Given the description of an element on the screen output the (x, y) to click on. 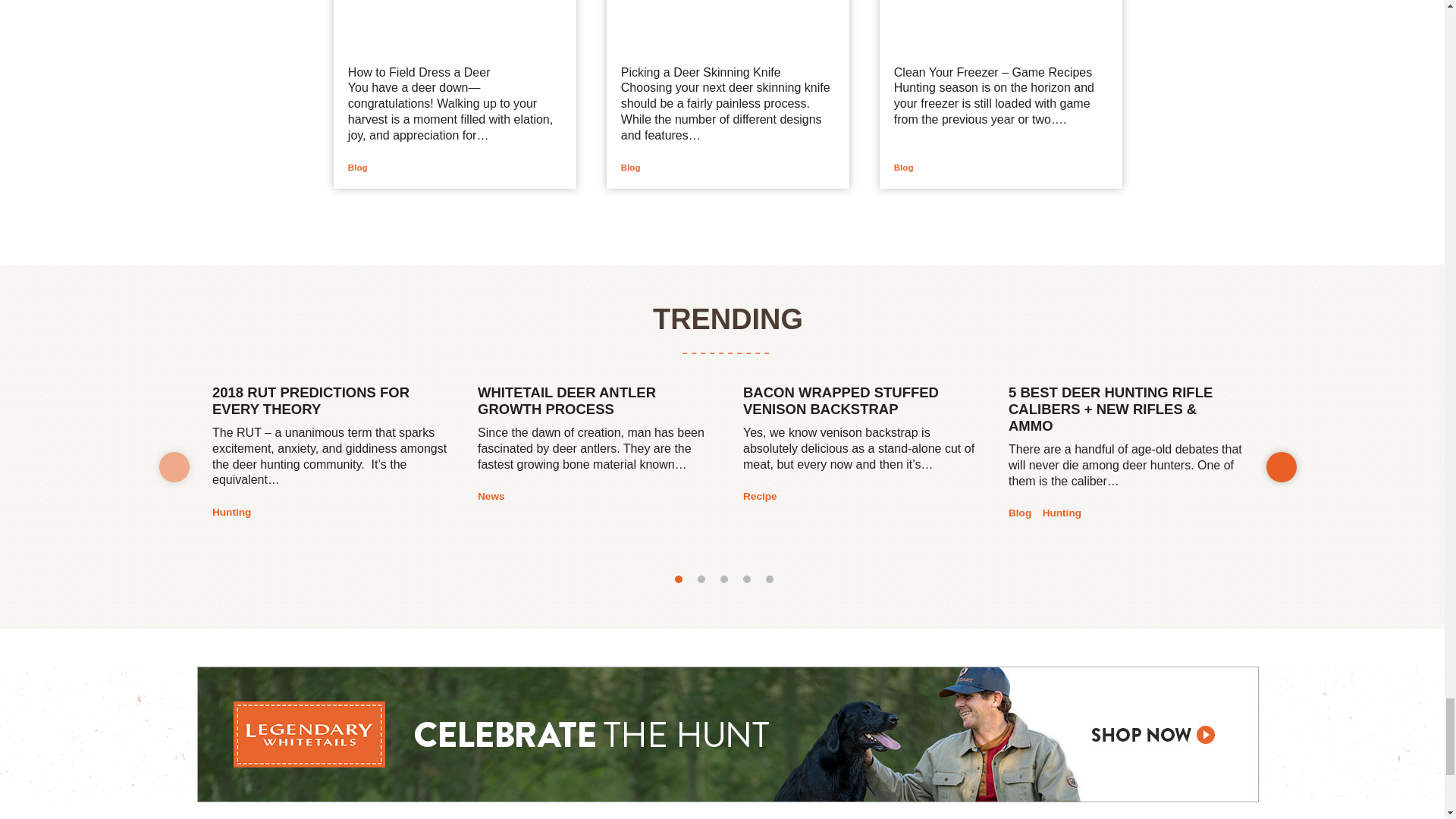
Blog (630, 167)
News (491, 496)
BACON WRAPPED STUFFED VENISON BACKSTRAP (860, 404)
2018 RUT PREDICTIONS FOR EVERY THEORY (329, 404)
Blog (357, 167)
Previous (173, 467)
Hunting (1061, 513)
WHITETAIL DEER ANTLER GROWTH PROCESS (595, 404)
Recipe (759, 496)
Hunting (231, 512)
